Given the description of an element on the screen output the (x, y) to click on. 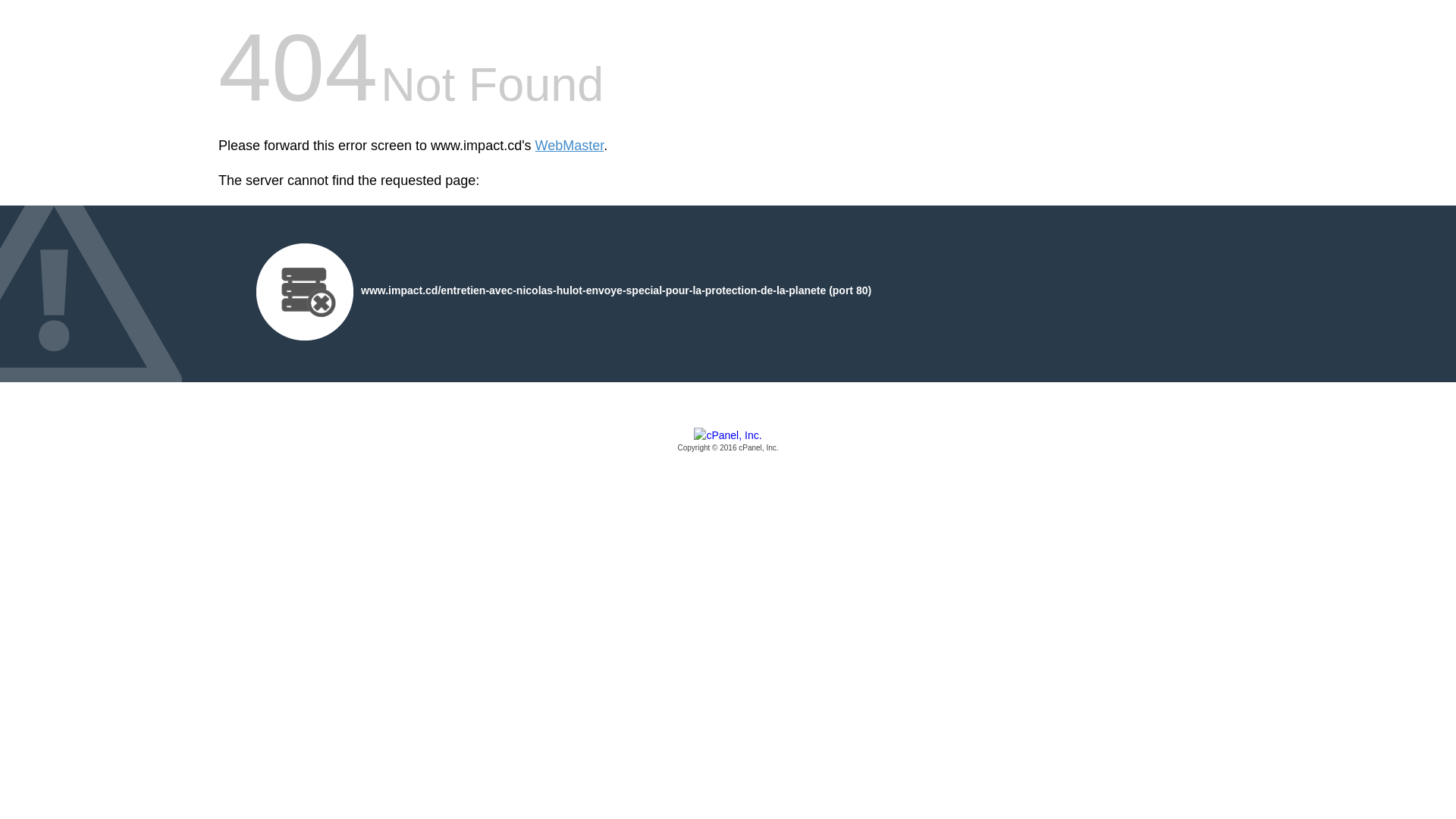
WebMaster Element type: text (569, 145)
